Given the description of an element on the screen output the (x, y) to click on. 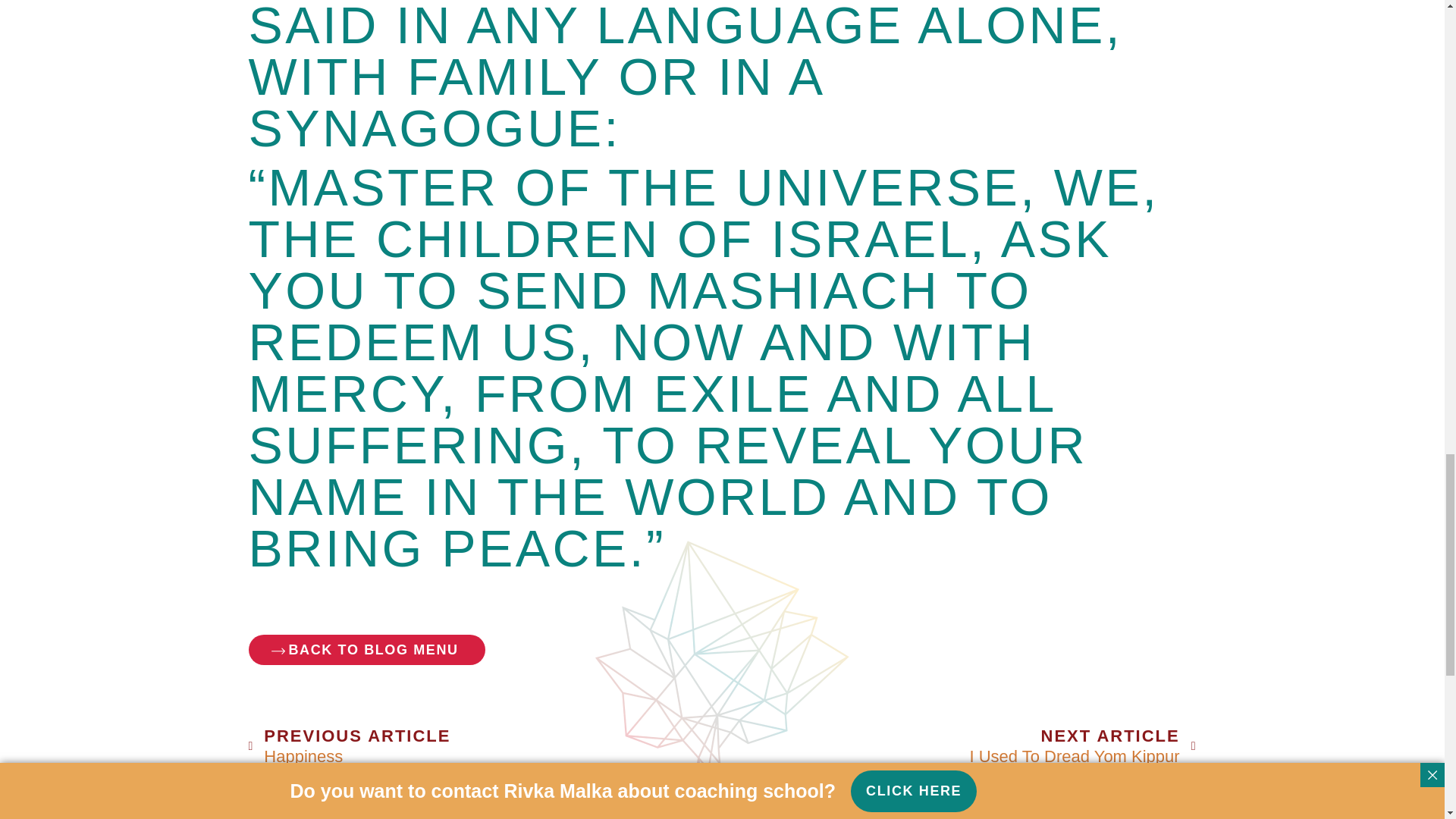
BACK TO BLOG MENU (485, 745)
